Given the description of an element on the screen output the (x, y) to click on. 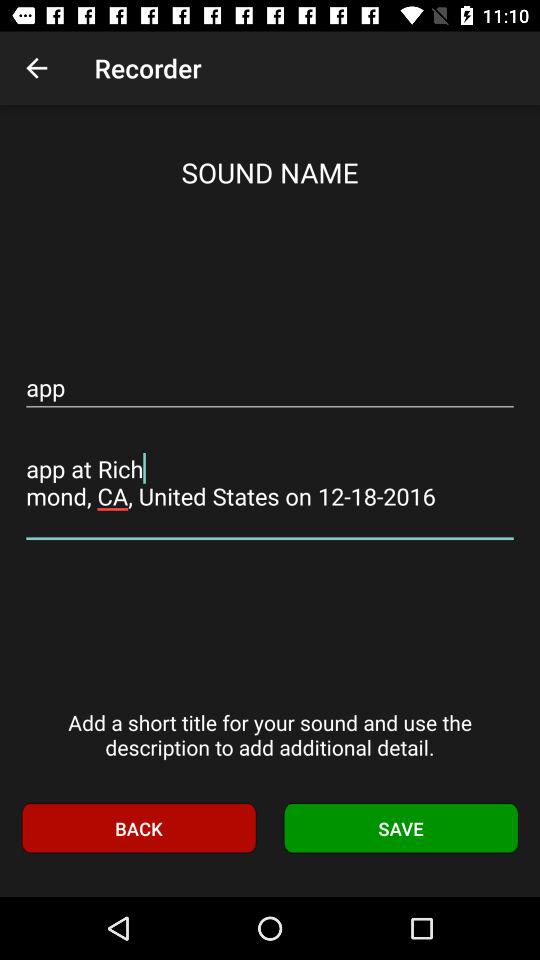
select icon to the left of the save icon (138, 828)
